Given the description of an element on the screen output the (x, y) to click on. 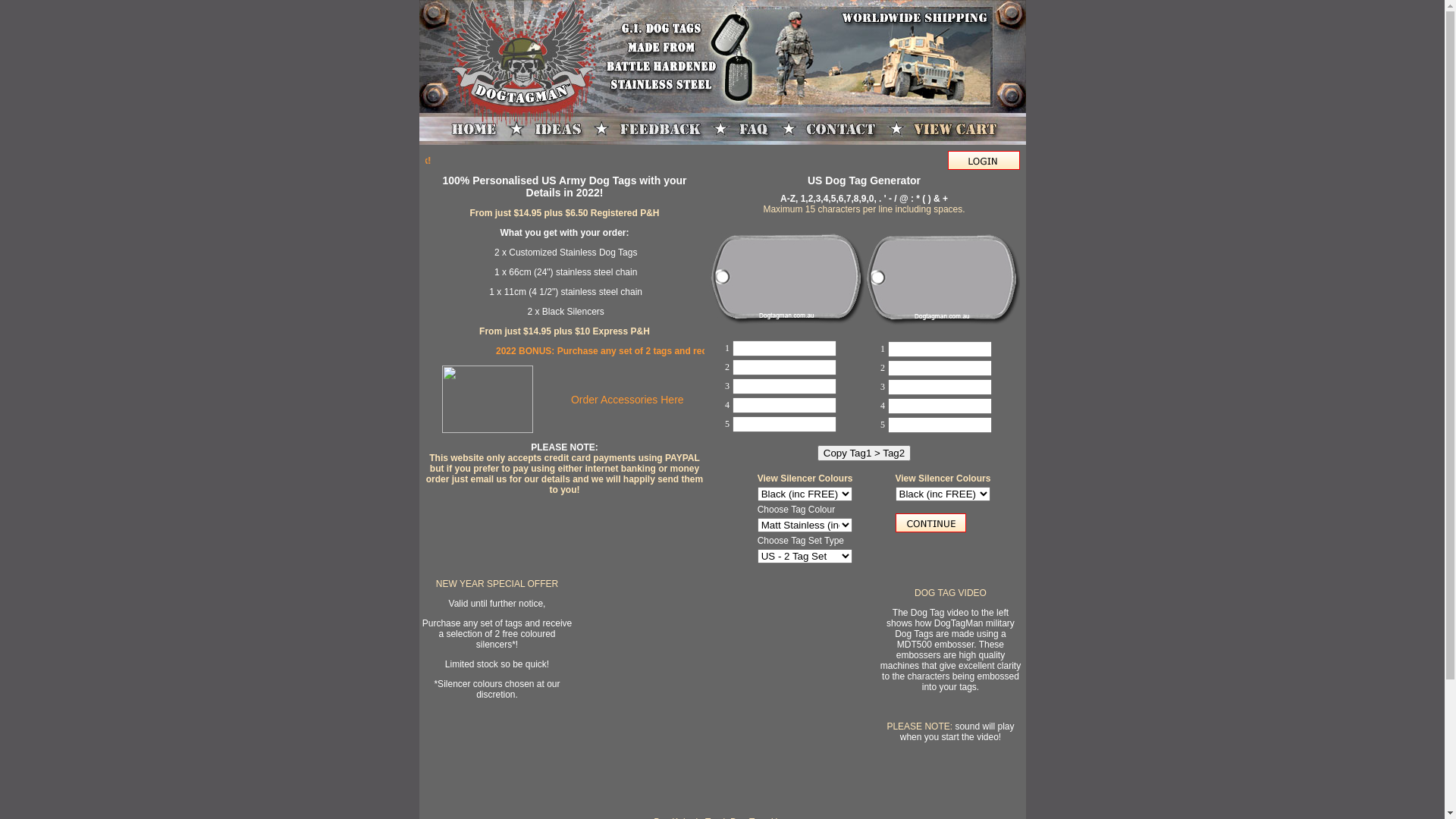
View Silencer Colours Element type: text (805, 478)
Copy Tag1 > Tag2 Element type: text (863, 453)
Order Accessories Here Element type: text (627, 398)
View Silencer Colours Element type: text (942, 478)
DogTagMan Element type: hover (487, 429)
